Given the description of an element on the screen output the (x, y) to click on. 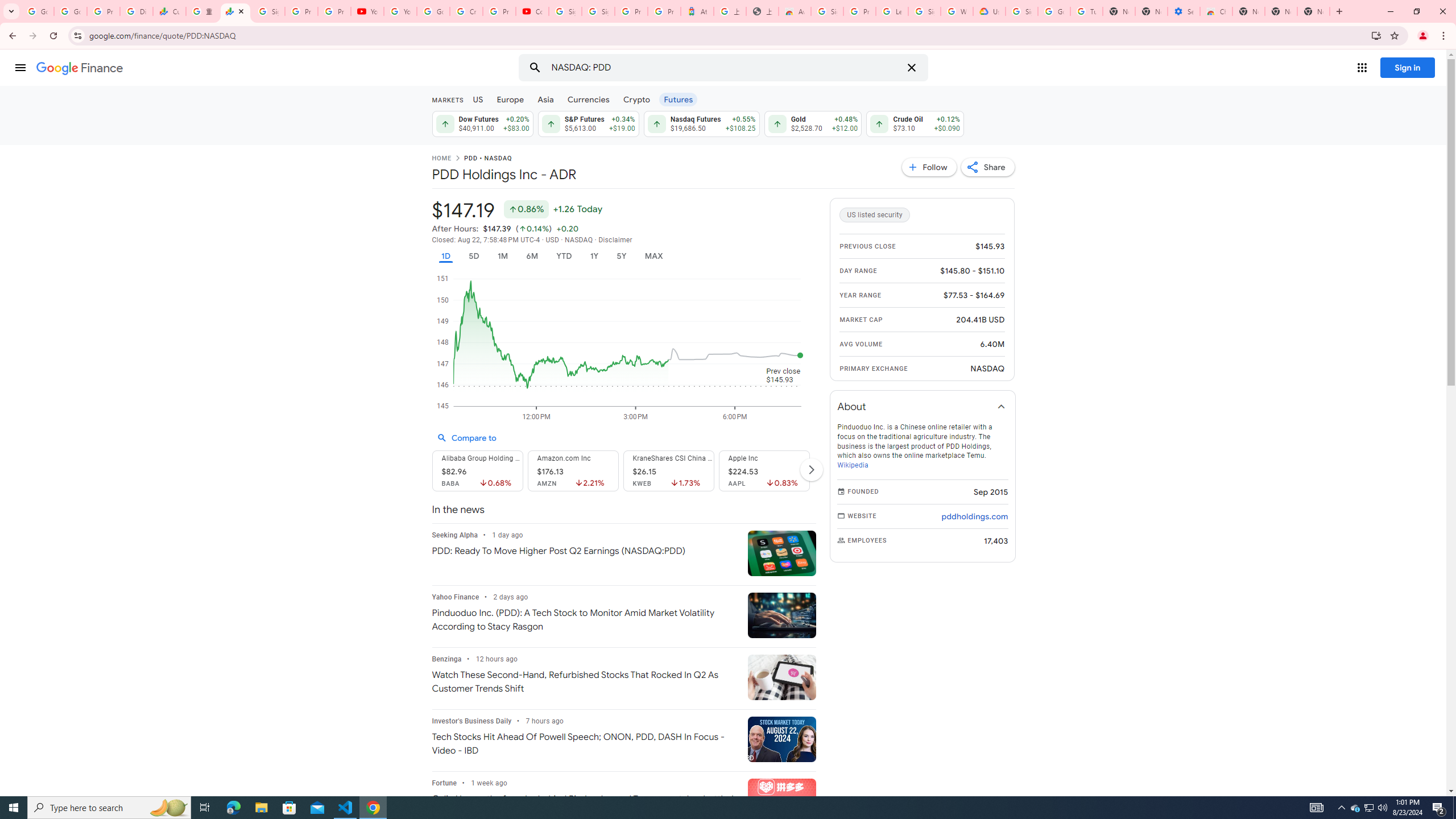
Share (987, 167)
Currencies (588, 99)
Main menu (20, 67)
Futures (678, 99)
Google Account Help (433, 11)
Google Account Help (1053, 11)
Follow (929, 167)
View site information (77, 35)
Sign in - Google Accounts (598, 11)
PDD Holdings Inc - ADR (PDD) Price & News - Google Finance (235, 11)
New Tab (1338, 11)
